Given the description of an element on the screen output the (x, y) to click on. 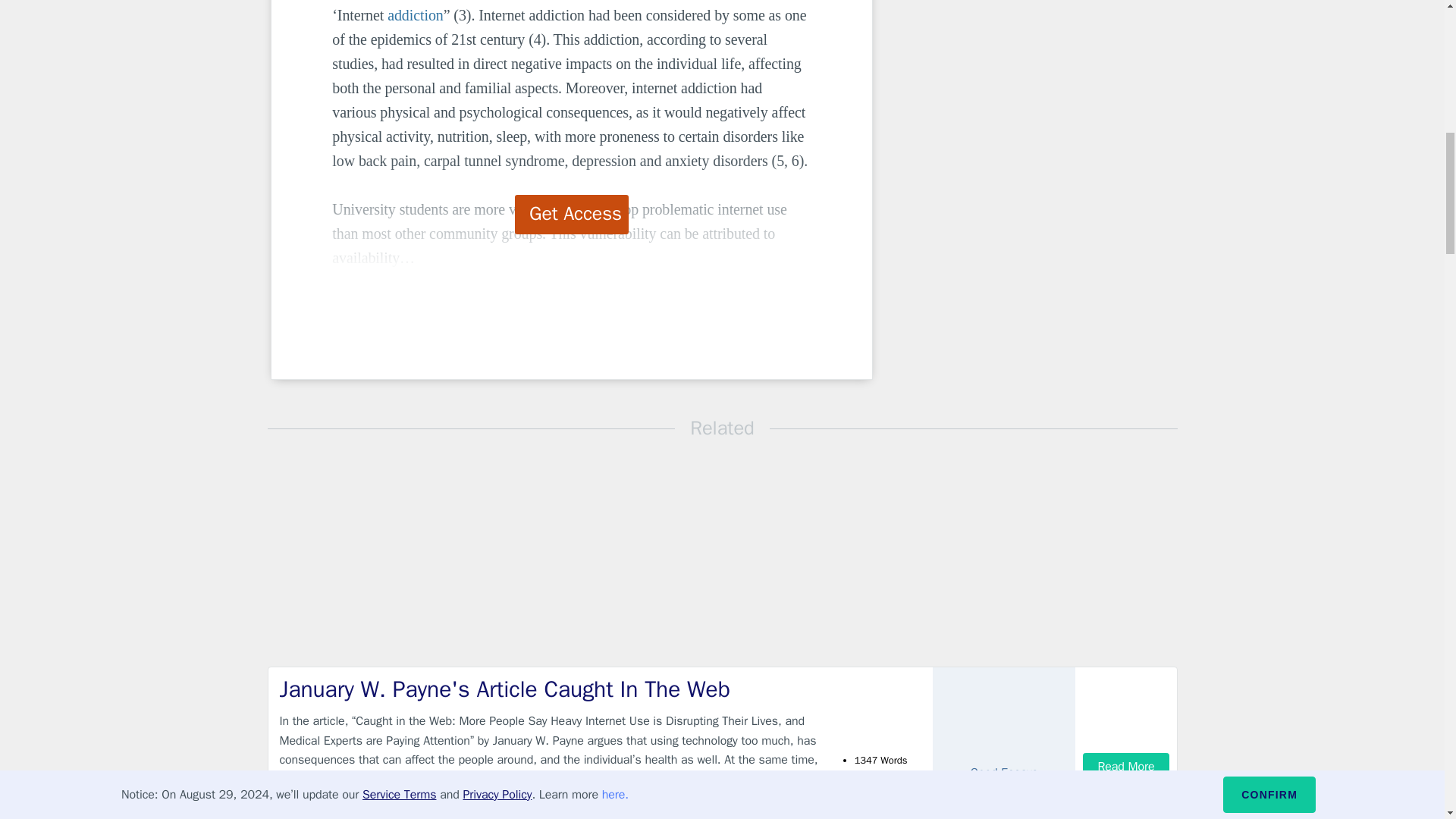
January W. Payne's Article Caught In The Web (548, 689)
addiction (415, 14)
Read More (1126, 766)
Get Access (571, 214)
